Given the description of an element on the screen output the (x, y) to click on. 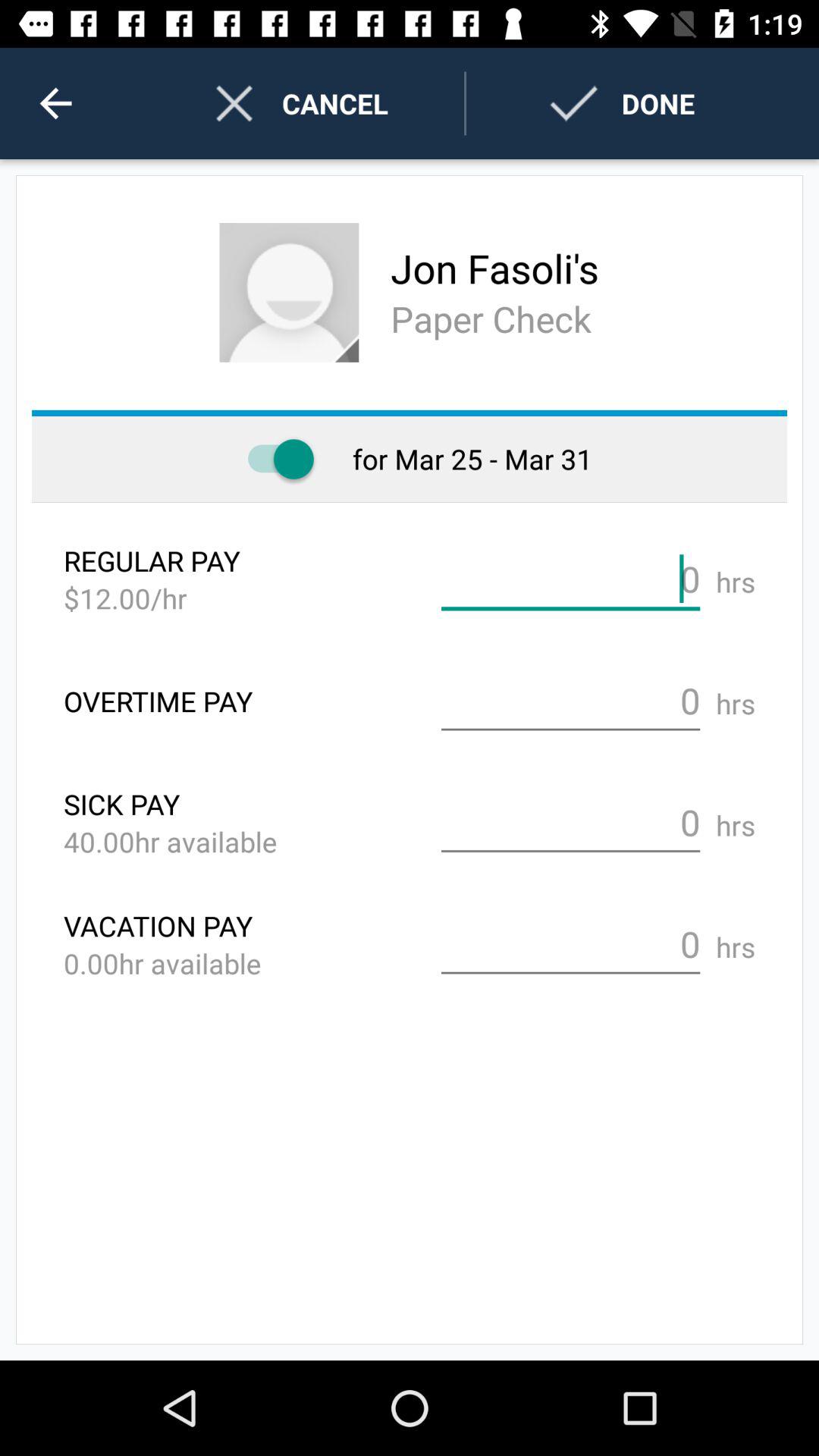
toggle week (273, 459)
